Given the description of an element on the screen output the (x, y) to click on. 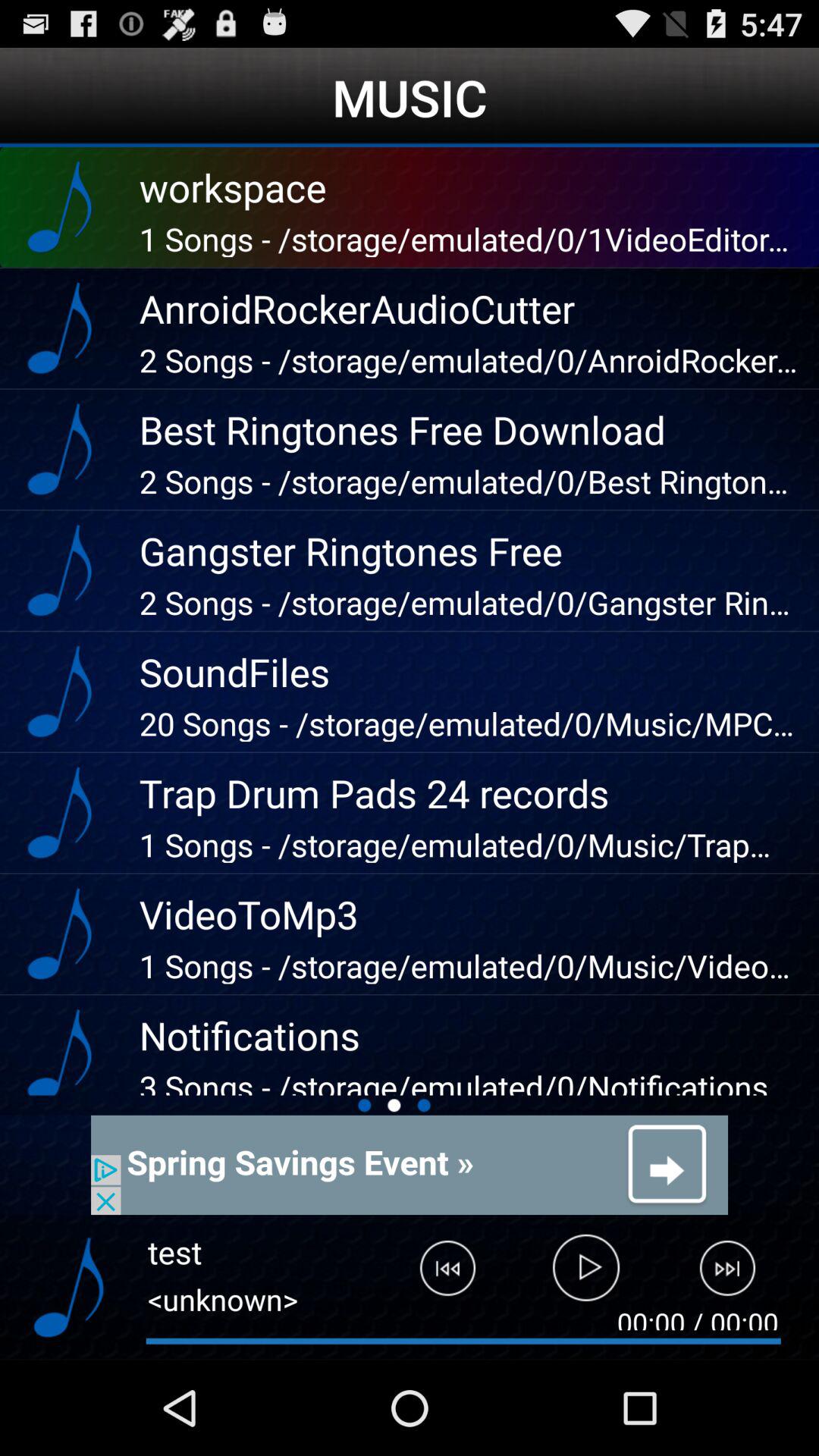
to go down (68, 1287)
